Given the description of an element on the screen output the (x, y) to click on. 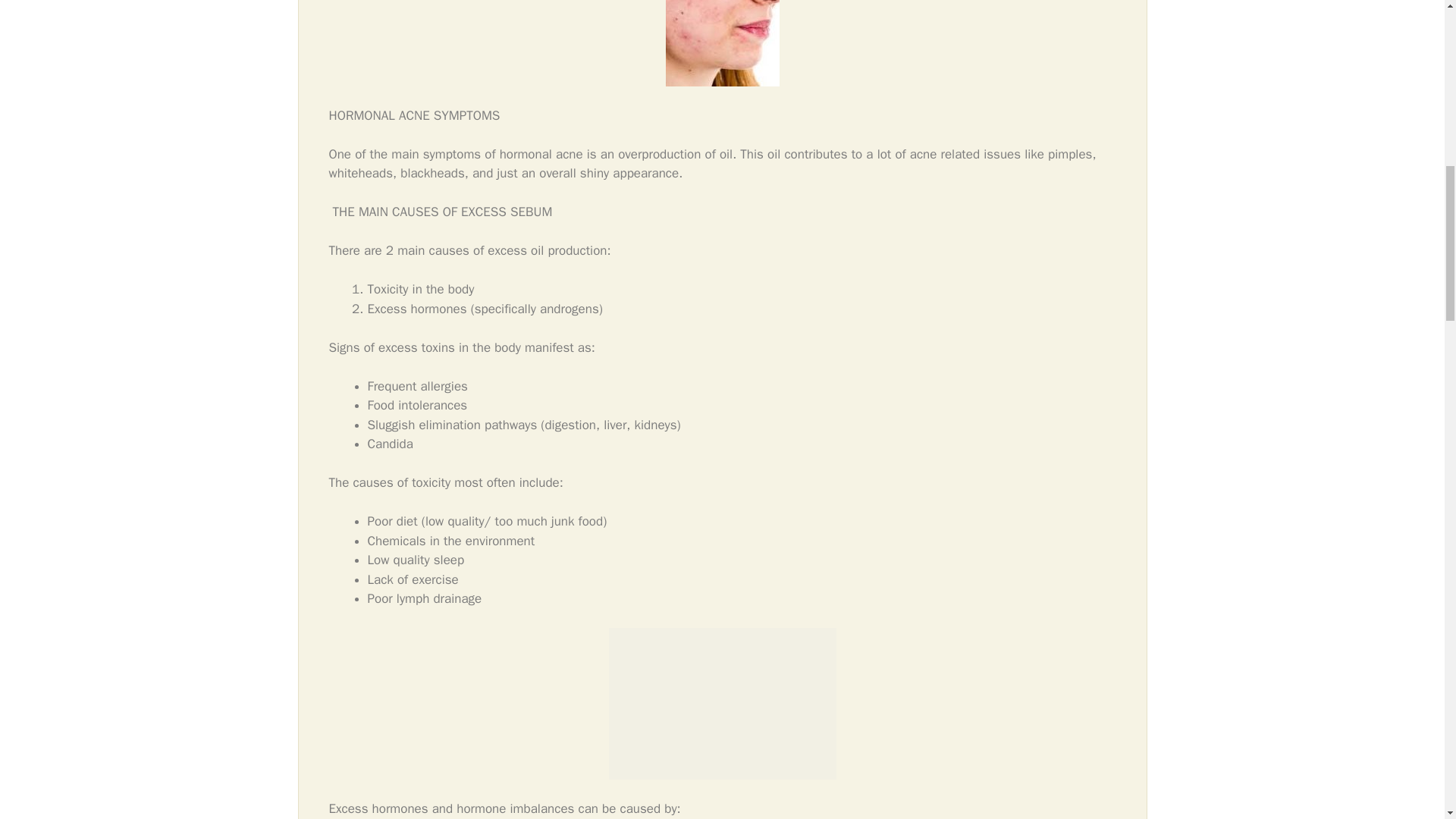
Scroll back to top (1406, 720)
